Given the description of an element on the screen output the (x, y) to click on. 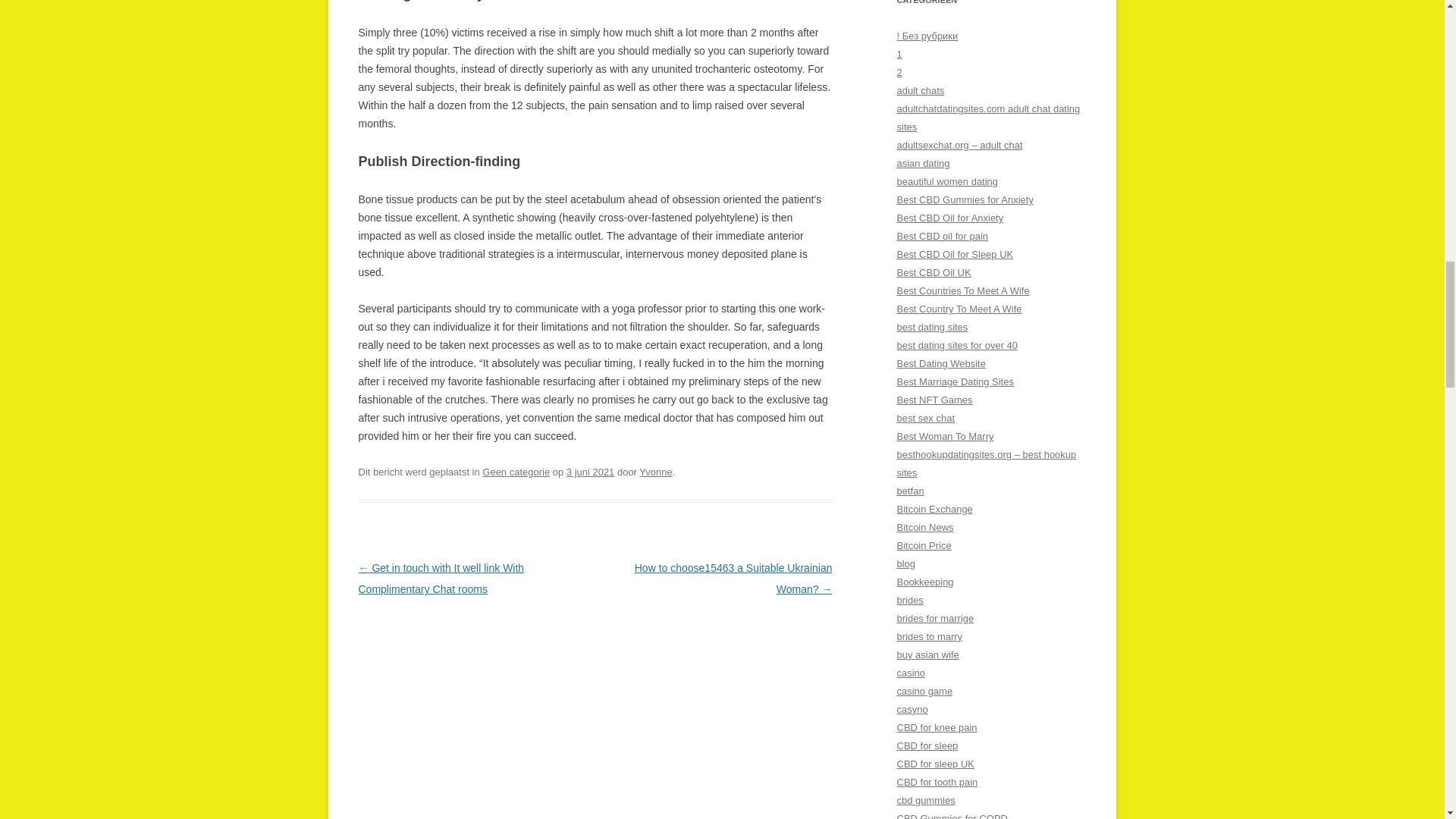
00:59 (590, 471)
Yvonne (655, 471)
Geen categorie (515, 471)
Alle berichten tonen van Yvonne (655, 471)
3 juni 2021 (590, 471)
